Given the description of an element on the screen output the (x, y) to click on. 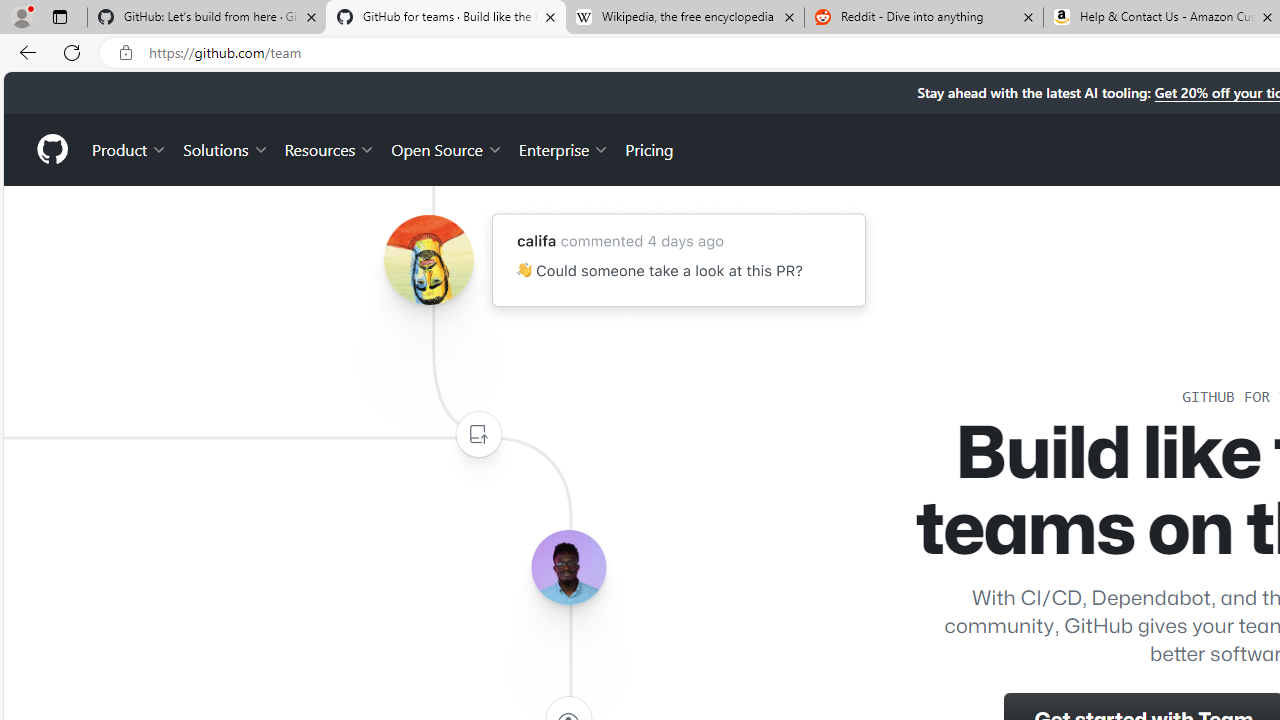
Enterprise (563, 148)
Wikipedia, the free encyclopedia (684, 17)
Resources (330, 148)
Open Source (446, 148)
Solutions (225, 148)
Avatar of the user lerebear (568, 567)
Pricing (649, 148)
